Given the description of an element on the screen output the (x, y) to click on. 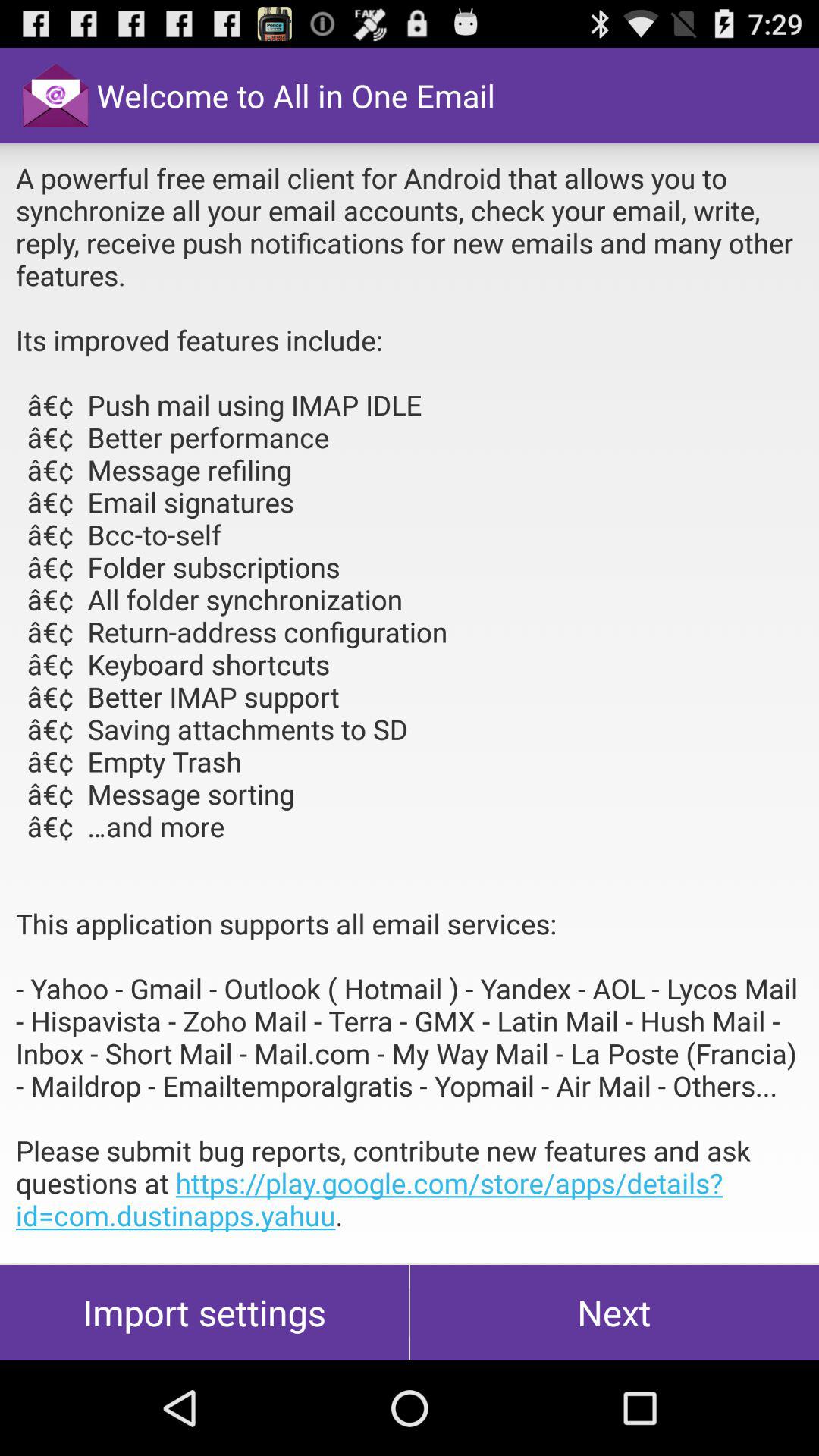
swipe until the next item (614, 1312)
